Given the description of an element on the screen output the (x, y) to click on. 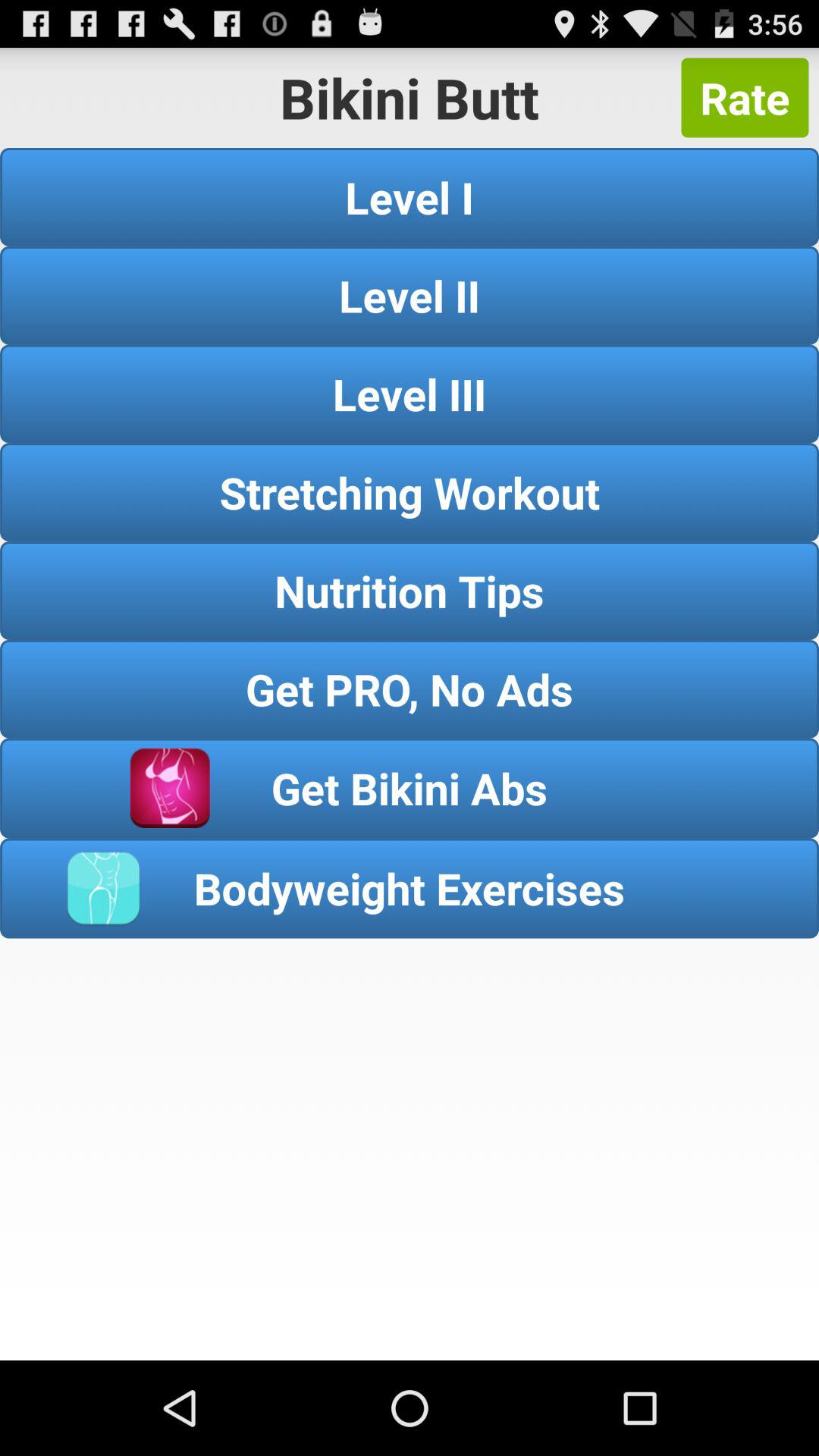
click button above get pro no (409, 590)
